Given the description of an element on the screen output the (x, y) to click on. 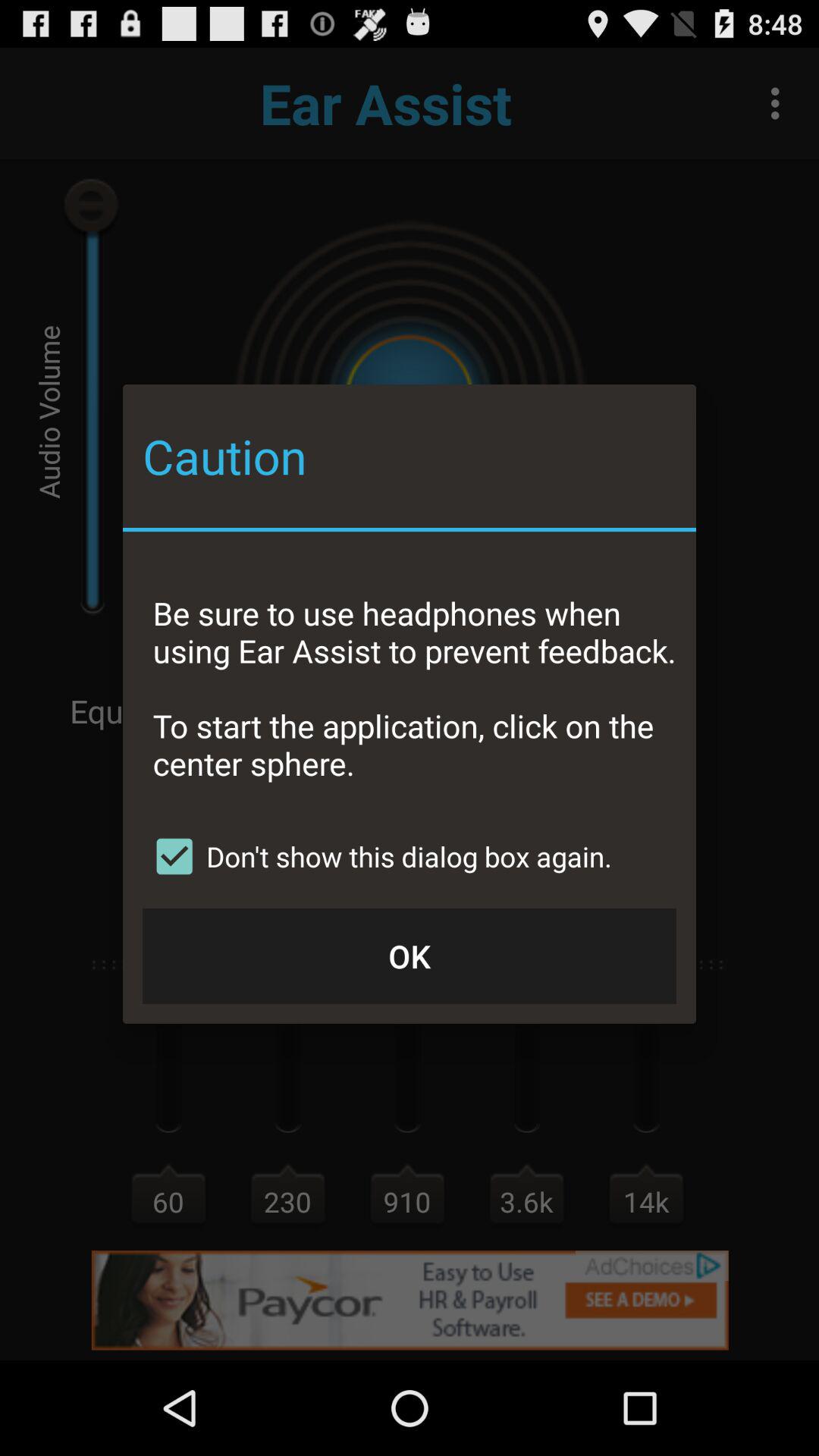
flip until the don t show item (376, 856)
